Given the description of an element on the screen output the (x, y) to click on. 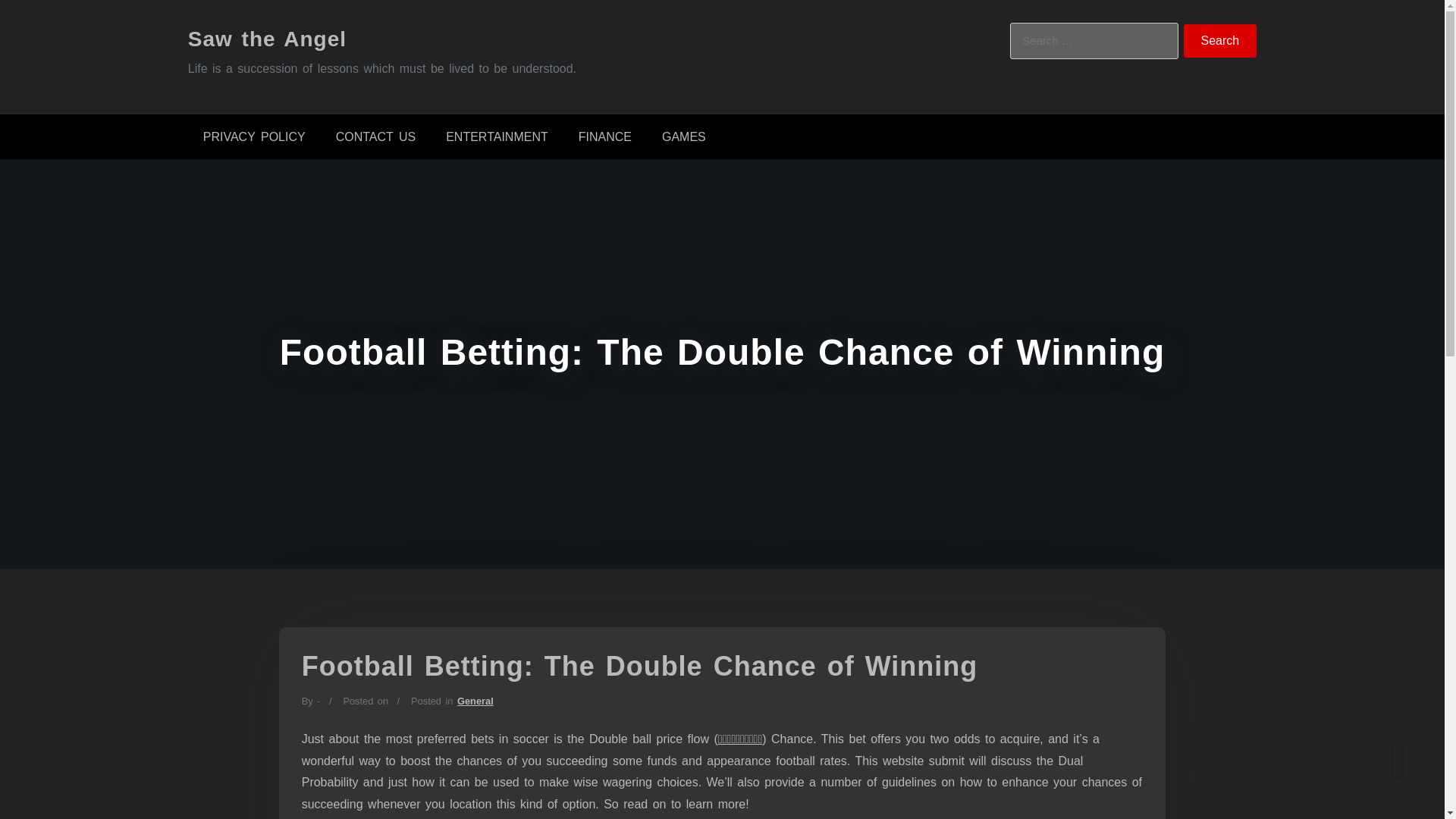
Saw the Angel (266, 38)
FINANCE (604, 136)
Search (1220, 40)
Search (1220, 40)
Search (1220, 40)
CONTACT US (375, 136)
ENTERTAINMENT (496, 136)
PRIVACY POLICY (253, 136)
GAMES (683, 136)
General (475, 700)
